Given the description of an element on the screen output the (x, y) to click on. 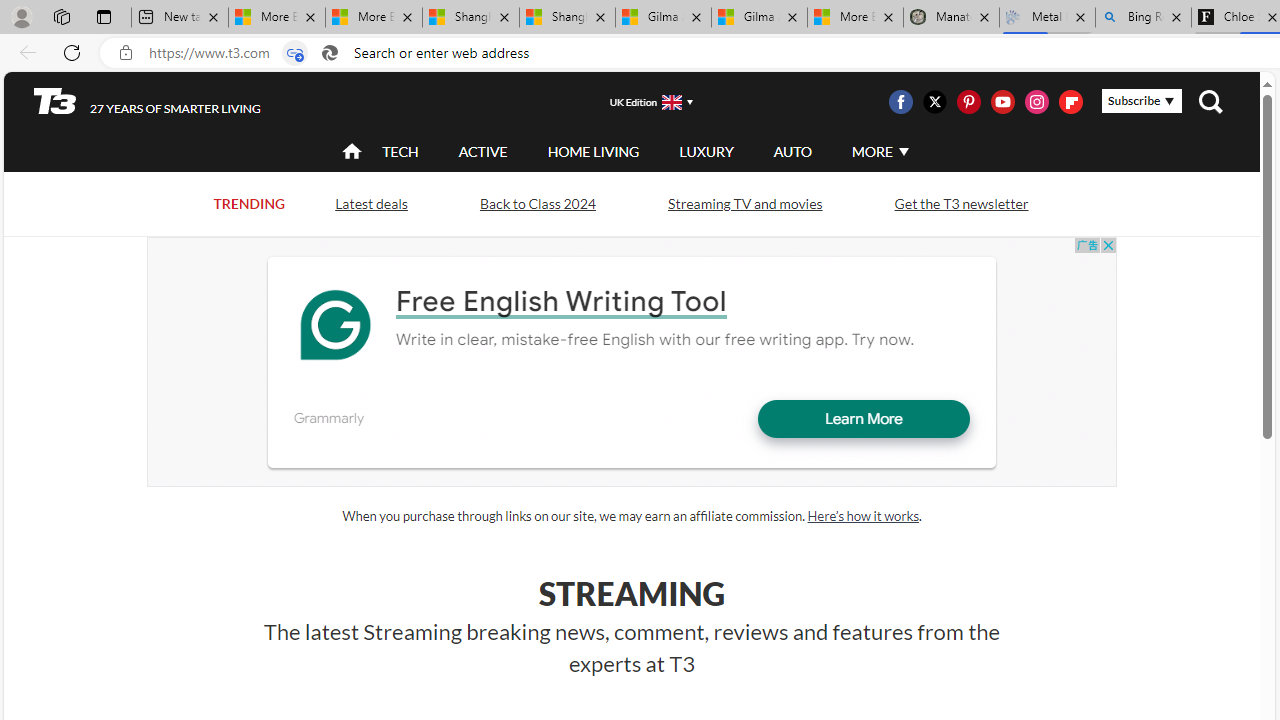
MORE  (878, 151)
Manatee Mortality Statistics | FWC (951, 17)
AUTO (792, 151)
Visit us on Youtube (1002, 101)
Visit us on Twitter (934, 101)
LUXURY (705, 151)
ACTIVE (483, 151)
AUTO (792, 151)
flag of UK (672, 102)
LUXURY (705, 151)
Streaming TV and movies (744, 204)
Visit us on Pintrest (968, 101)
UK Edition (643, 101)
